Given the description of an element on the screen output the (x, y) to click on. 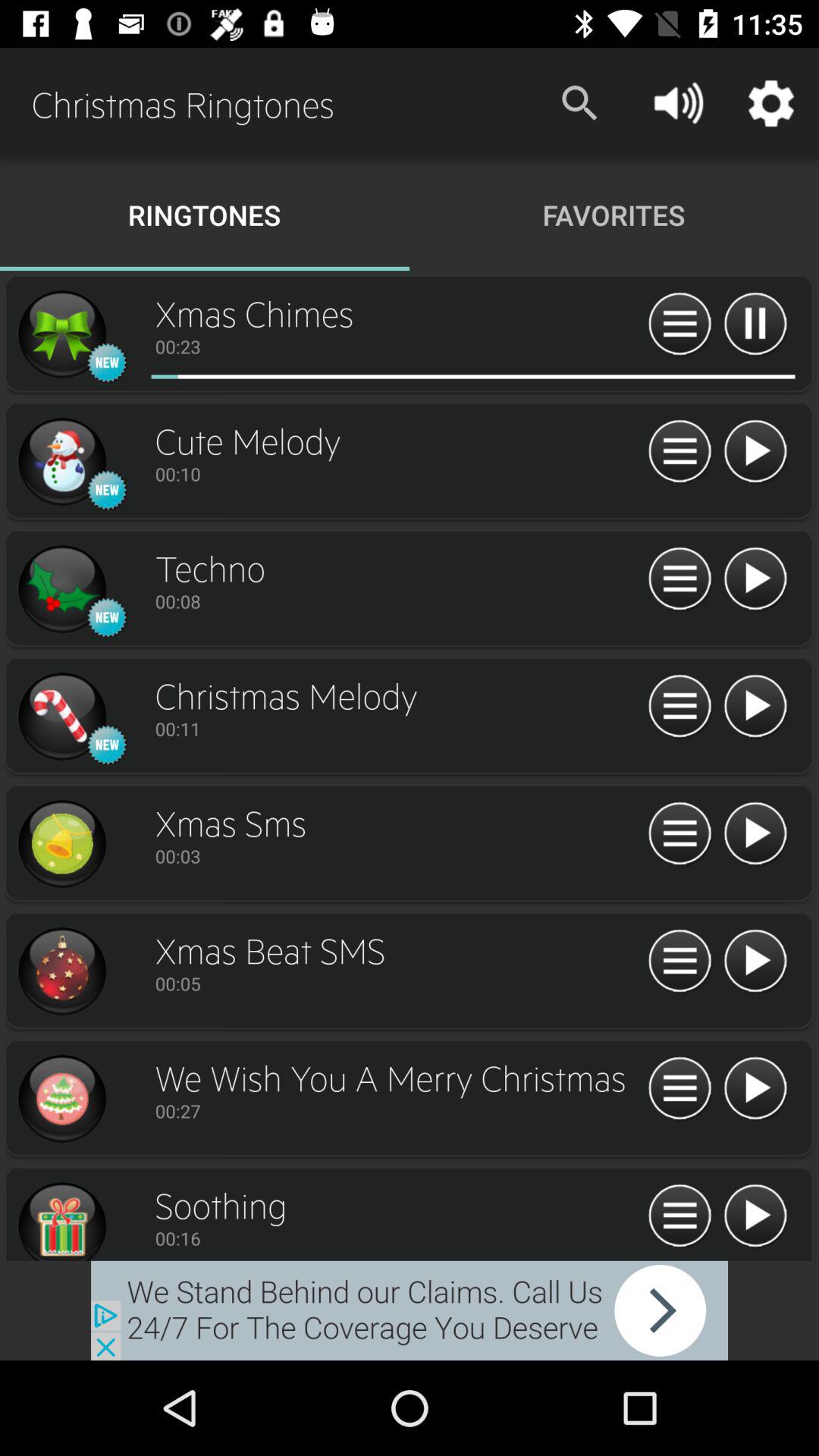
click to ringtones options (61, 334)
